Given the description of an element on the screen output the (x, y) to click on. 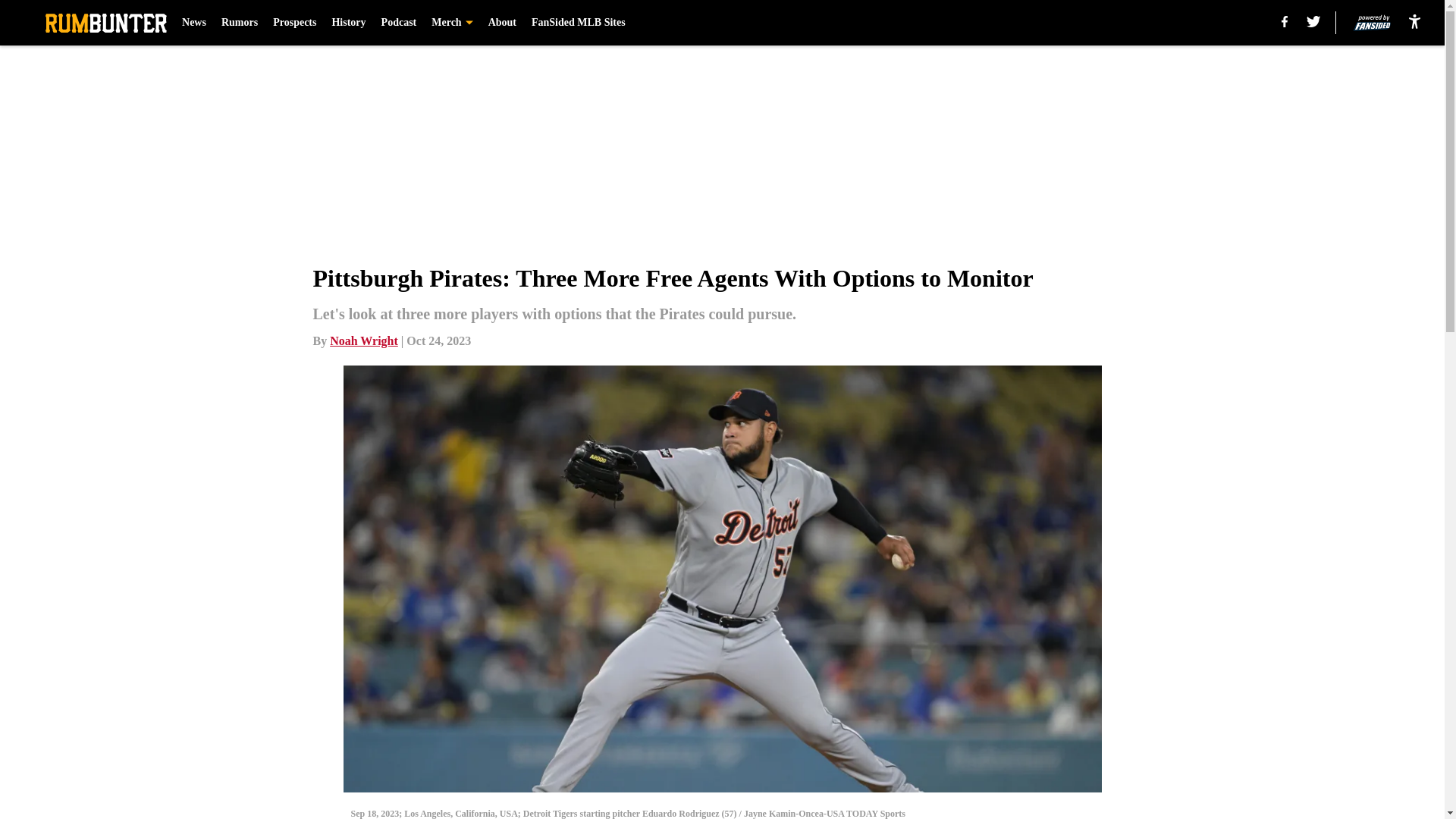
Prospects (294, 22)
History (348, 22)
FanSided MLB Sites (578, 22)
News (194, 22)
Rumors (239, 22)
Noah Wright (363, 340)
Podcast (398, 22)
About (501, 22)
